Given the description of an element on the screen output the (x, y) to click on. 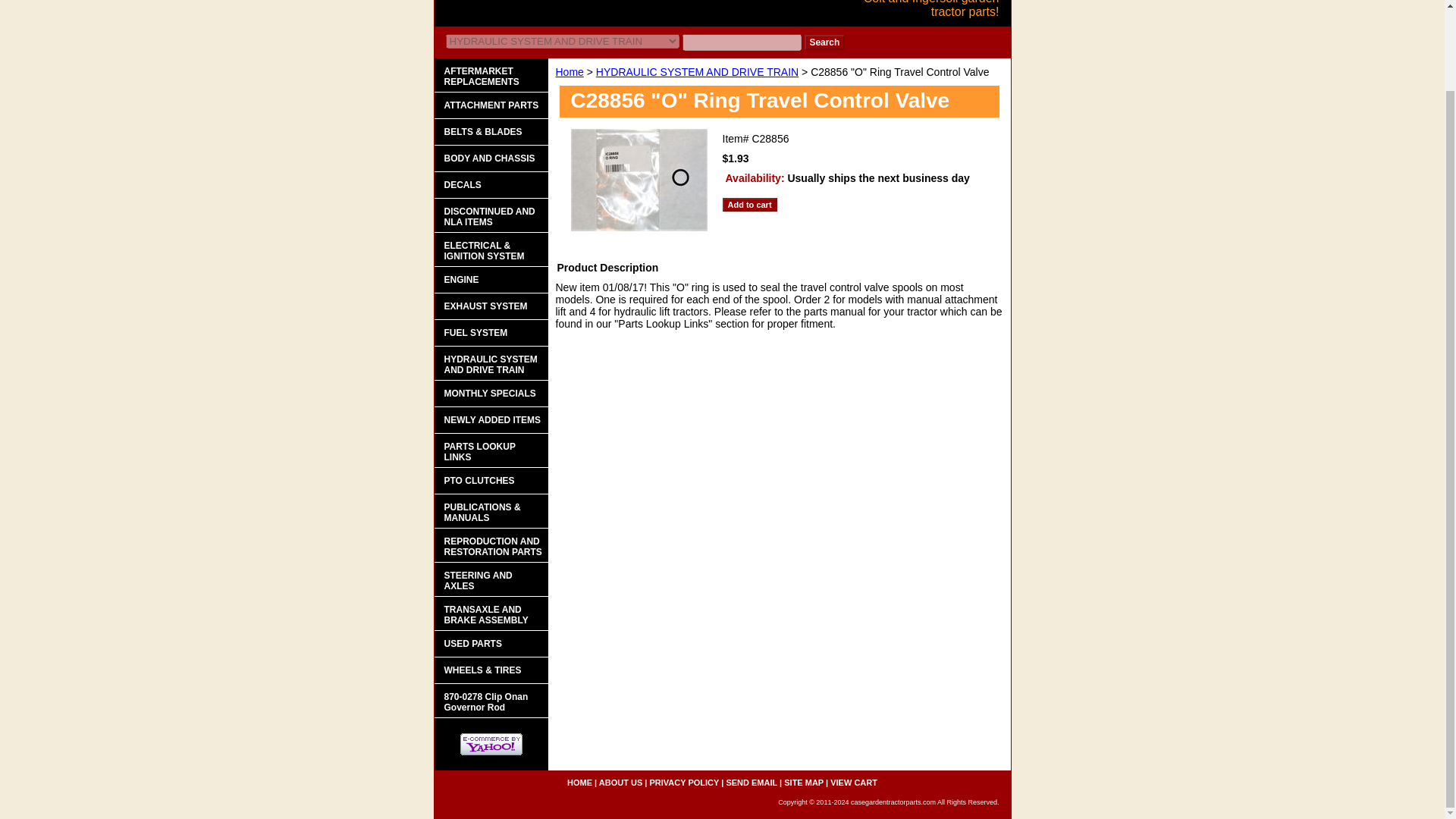
PTO CLUTCHES (490, 480)
NEWLY ADDED ITEMS (490, 420)
HYDRAULIC SYSTEM AND DRIVE TRAIN (696, 71)
Search (823, 42)
EXHAUST SYSTEM (490, 306)
FUEL SYSTEM (490, 333)
MONTHLY SPECIALS (490, 393)
BODY AND CHASSIS (490, 158)
BODY AND CHASSIS (490, 158)
EXHAUST SYSTEM (490, 306)
HYDRAULIC SYSTEM AND DRIVE TRAIN (490, 363)
PRIVACY POLICY (684, 782)
FUEL SYSTEM (490, 333)
ATTACHMENT PARTS (490, 105)
C28856 "O" Ring Travel Control Valve (639, 180)
